Given the description of an element on the screen output the (x, y) to click on. 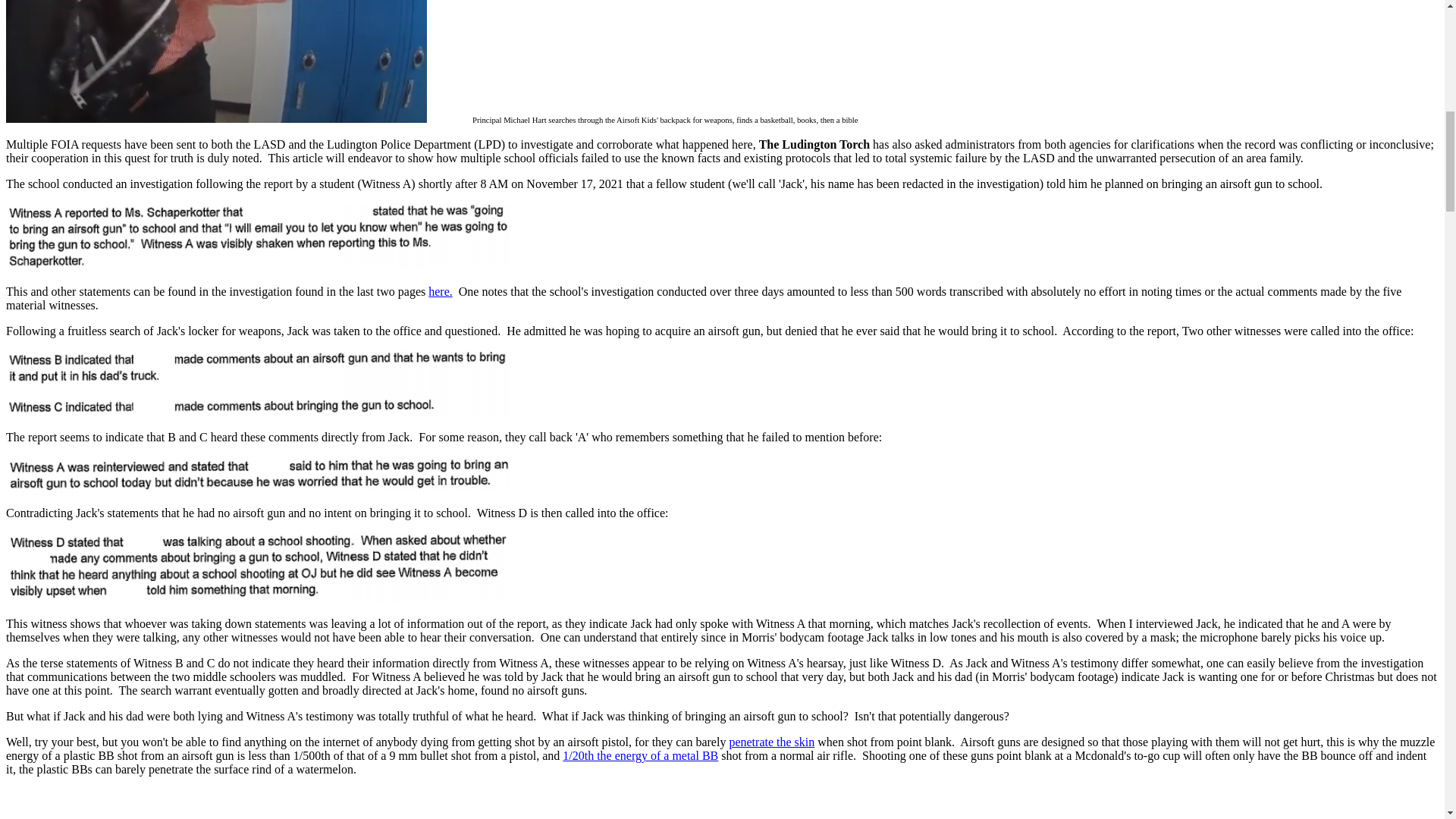
penetrate the skin (771, 741)
here. (440, 291)
